Given the description of an element on the screen output the (x, y) to click on. 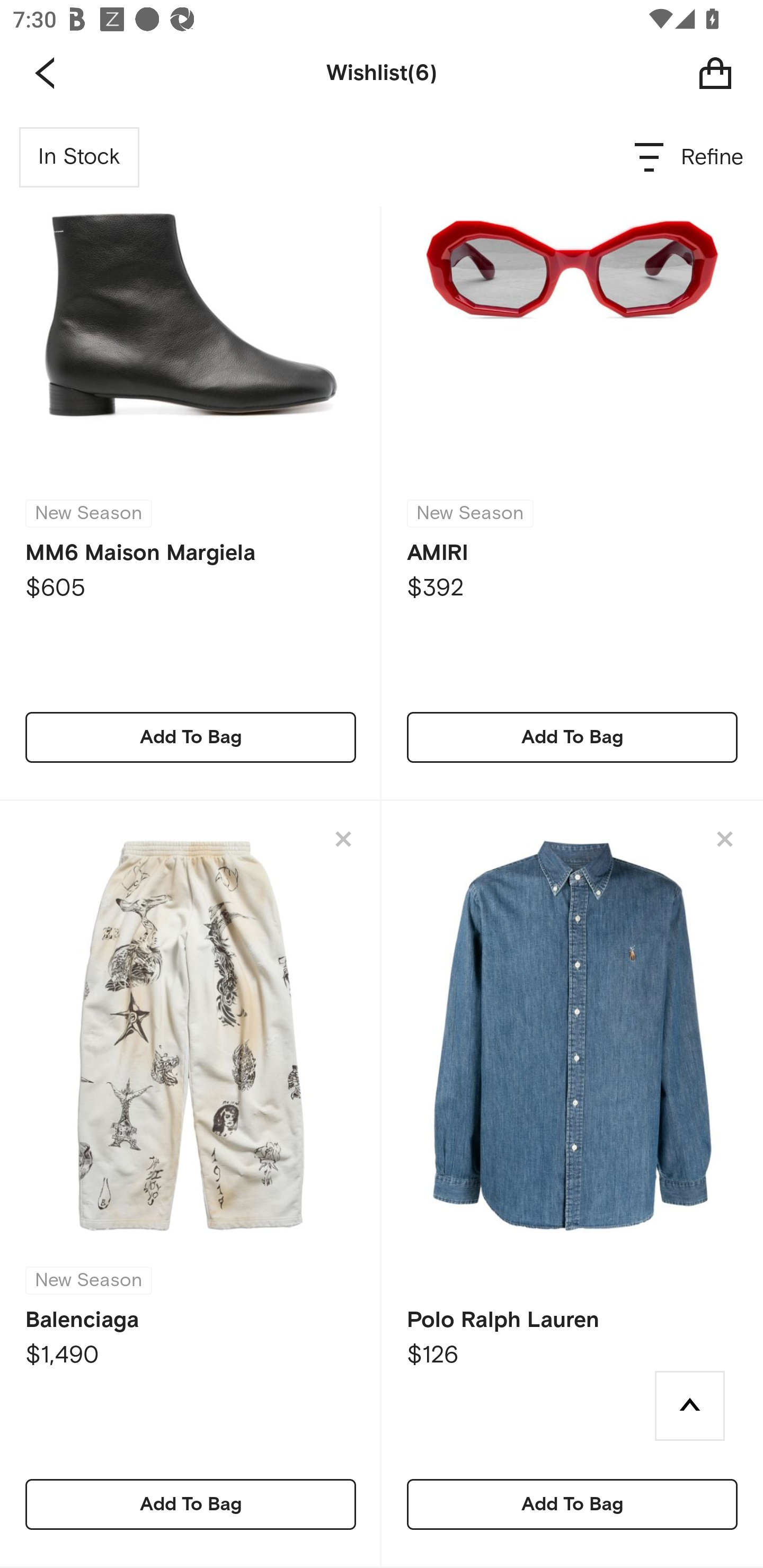
New Season MM6 Maison Margiela $605 Add To Bag (190, 454)
New Season AMIRI $392 Add To Bag (572, 454)
In Stock (79, 157)
Refine (690, 157)
Add To Bag (190, 737)
Add To Bag (571, 737)
New Season Balenciaga $1,490 Add To Bag (190, 1184)
Polo Ralph Lauren $126 Add To Bag (572, 1184)
Add To Bag (190, 1504)
Add To Bag (571, 1504)
